Given the description of an element on the screen output the (x, y) to click on. 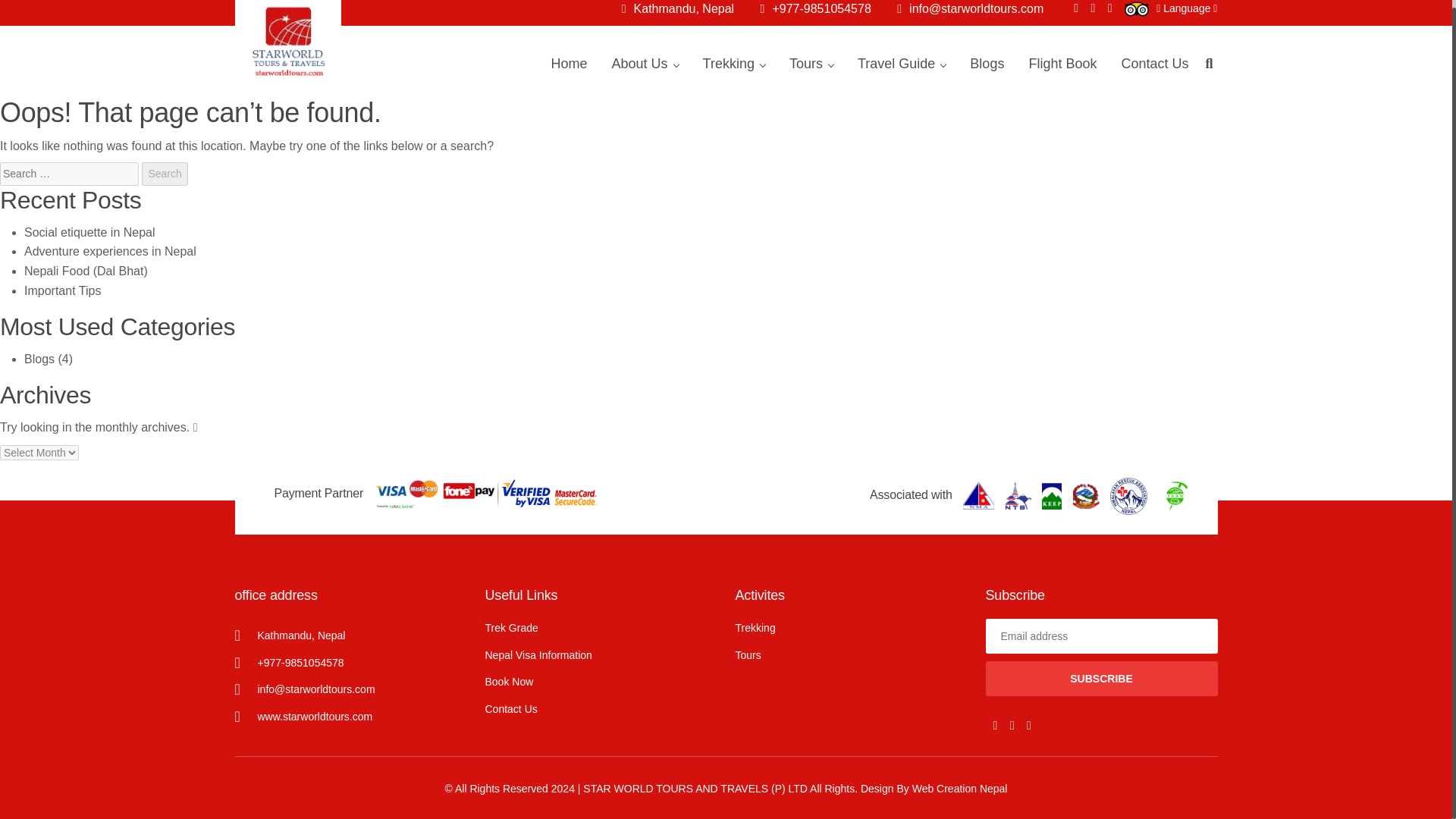
Kathmandu, Nepal (677, 8)
Search (164, 174)
Language  (1186, 8)
Search (164, 174)
